Given the description of an element on the screen output the (x, y) to click on. 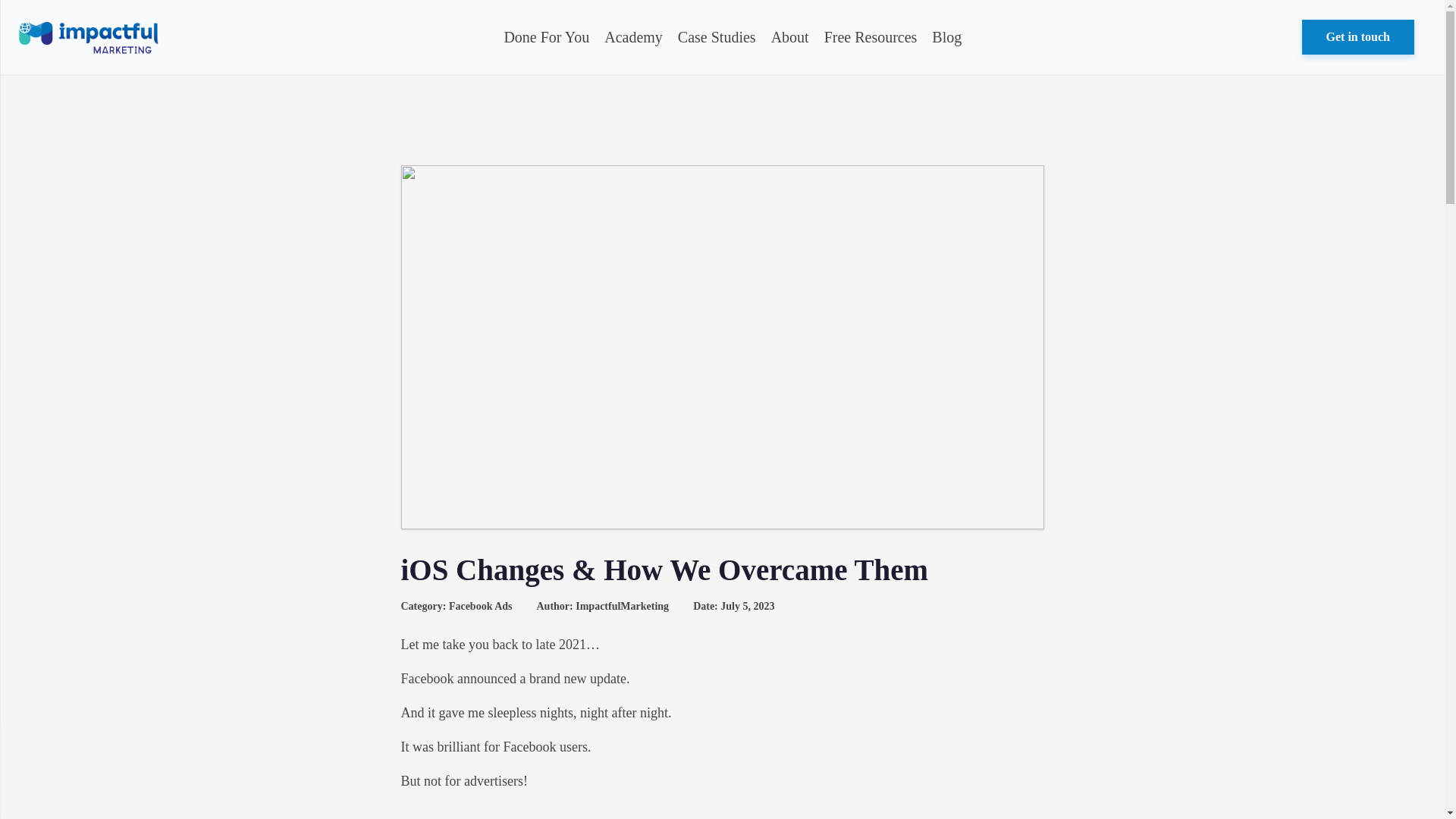
Get in touch (1357, 36)
Blog (946, 36)
Free Resources (870, 36)
About (789, 36)
Academy (632, 36)
Done For You (546, 36)
Case Studies (715, 36)
Facebook Ads (480, 605)
